Given the description of an element on the screen output the (x, y) to click on. 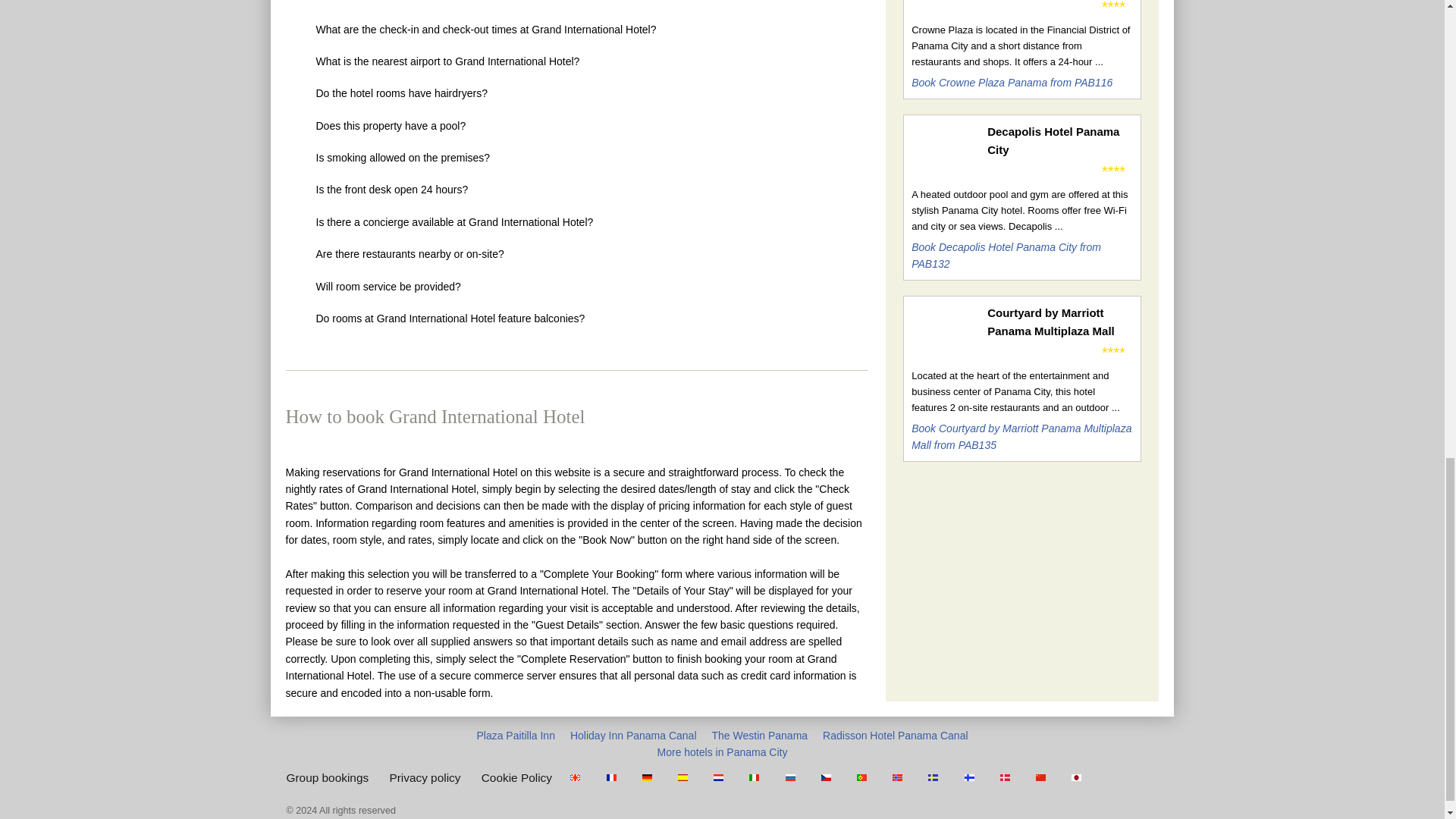
Book Crowne Plaza Panama from PAB116 (1011, 82)
Cookie Policy (516, 777)
Book Decapolis Hotel Panama City from PAB132 (1005, 255)
More hotels in Panama City (722, 752)
Decapolis Hotel Panama City (1059, 140)
Radisson Hotel Panama Canal (895, 735)
Group bookings (327, 777)
The Westin Panama (759, 735)
Plaza Paitilla Inn (515, 735)
